Given the description of an element on the screen output the (x, y) to click on. 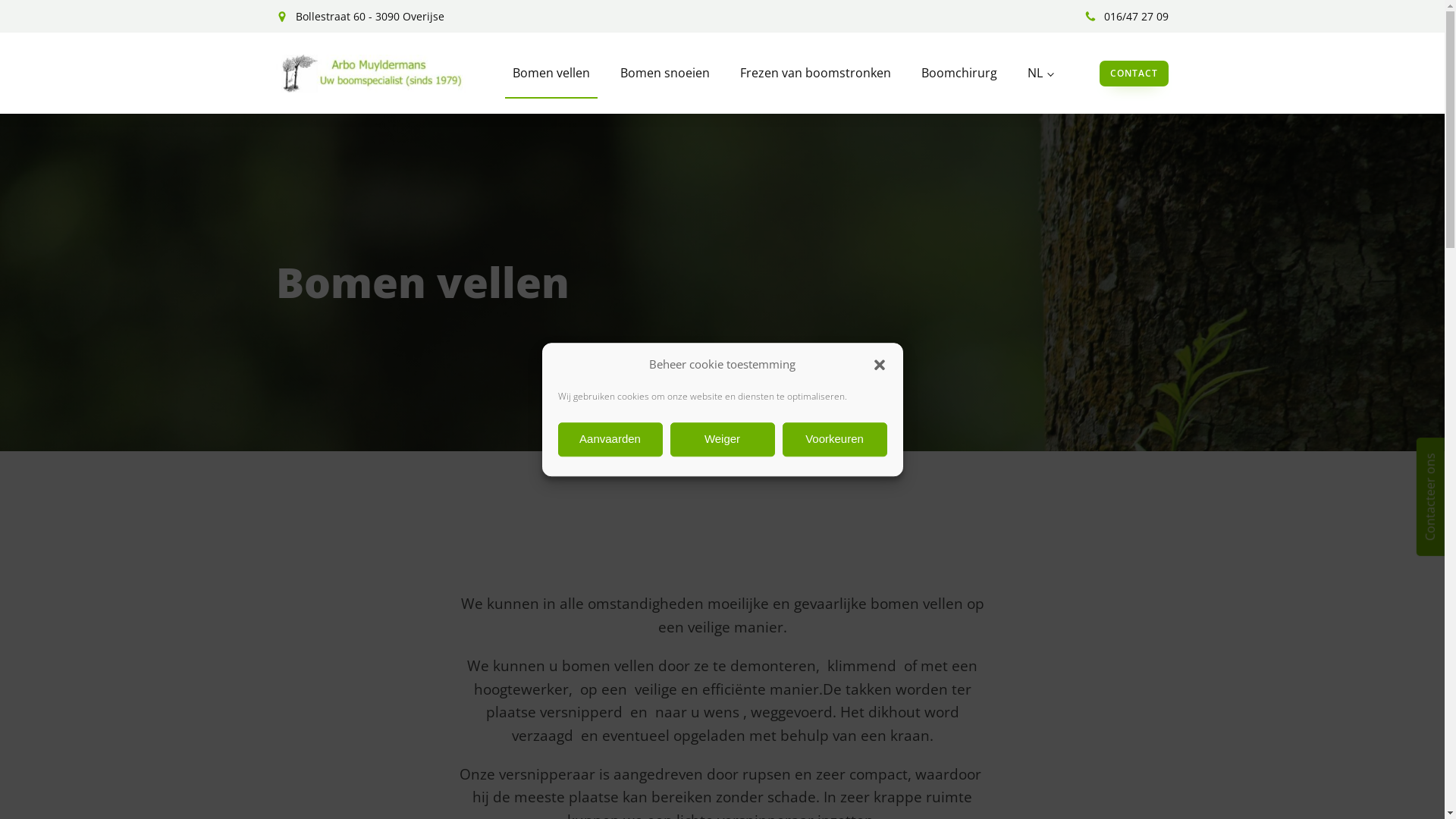
Voorkeuren Element type: text (834, 439)
016/47 27 09 Element type: text (1126, 16)
CONTACT Element type: text (1133, 73)
Boomchirurg Element type: text (958, 72)
Weiger Element type: text (722, 439)
Aanvaarden Element type: text (610, 439)
Bollestraat 60 - 3090 Overijse Element type: text (360, 16)
Bomen vellen Element type: text (551, 72)
Bomen snoeien Element type: text (664, 72)
NL Element type: text (1039, 72)
Frezen van boomstronken Element type: text (815, 72)
